Given the description of an element on the screen output the (x, y) to click on. 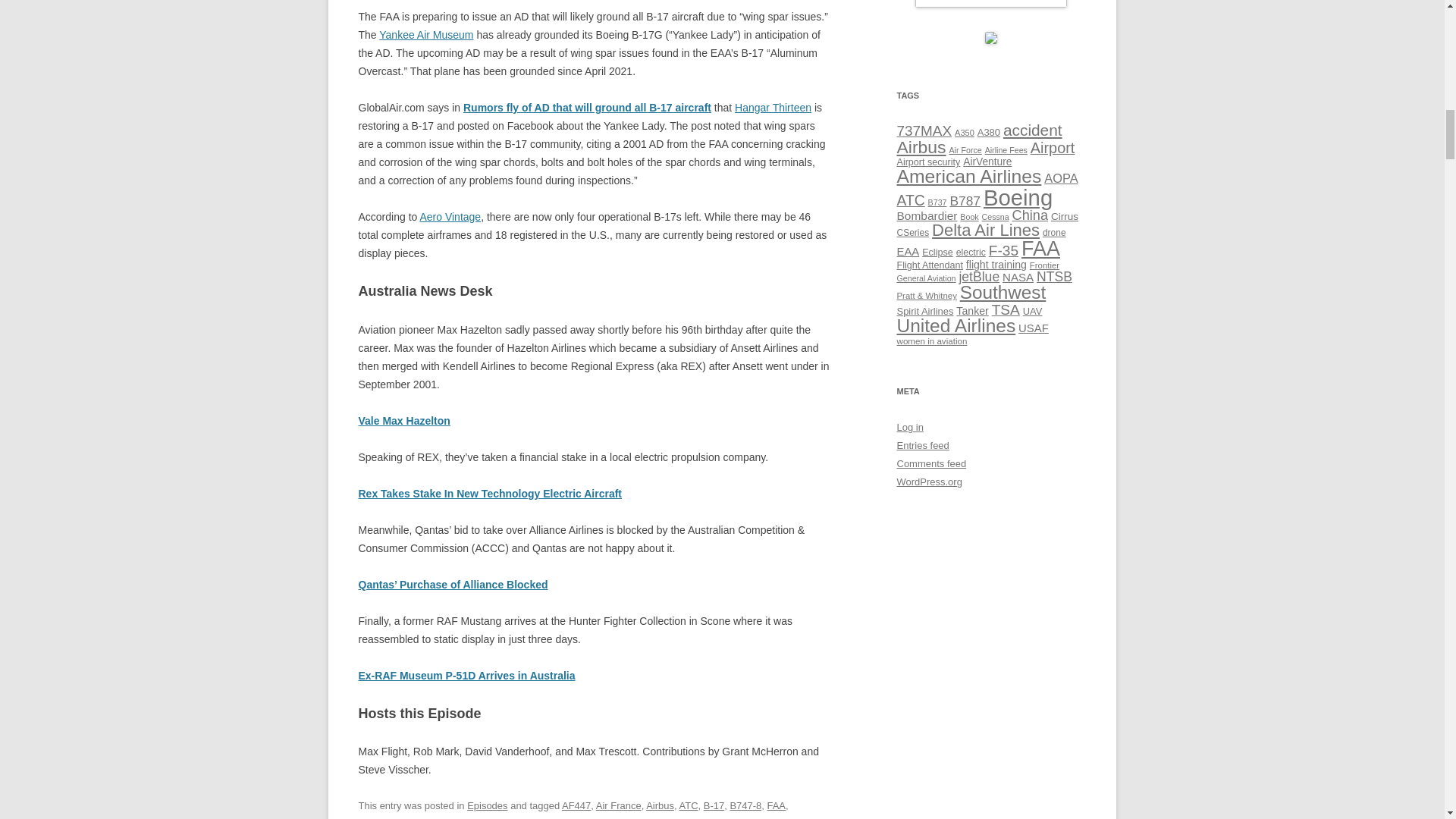
Episodes (486, 805)
Airbus (660, 805)
Air France (618, 805)
Aero Vintage (449, 216)
AF447 (576, 805)
Hangar Thirteen (772, 107)
Rumors fly of AD that will ground all B-17 aircraft (587, 107)
9:06 am (490, 818)
Rex Takes Stake In New Technology Electric Aircraft (489, 493)
Ex-RAF Museum P-51D Arrives in Australia (466, 675)
Vale Max Hazelton (403, 420)
Yankee Air Museum (425, 34)
